Given the description of an element on the screen output the (x, y) to click on. 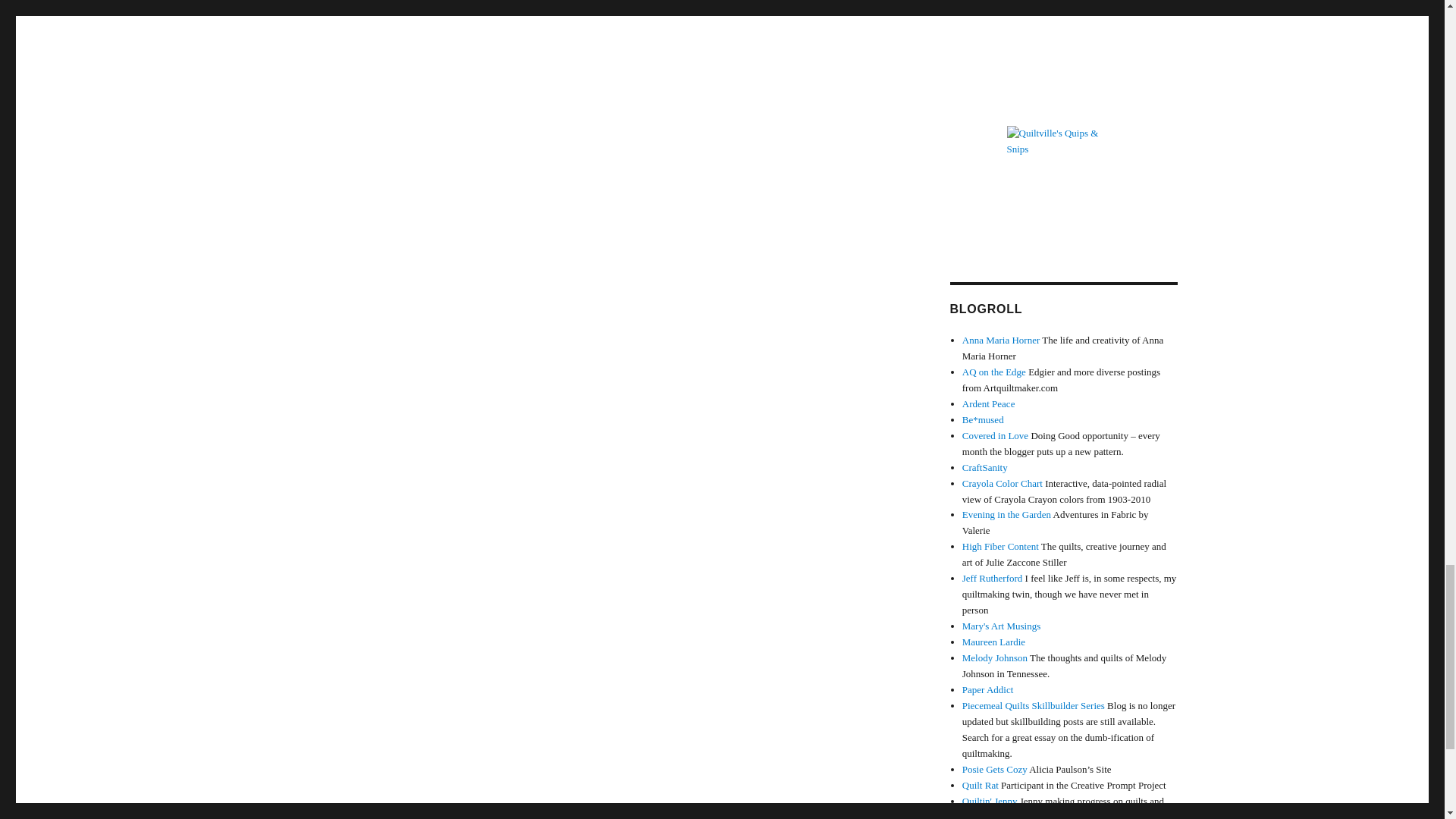
The thoughts and quilts of Melody Johnson in Tennessee. (994, 657)
Adventures in Fabric by Valerie (1006, 514)
The life and creativity of Anna Maria Horner (1001, 339)
Edgier and more diverse postings from Artquiltmaker.com (994, 371)
